Given the description of an element on the screen output the (x, y) to click on. 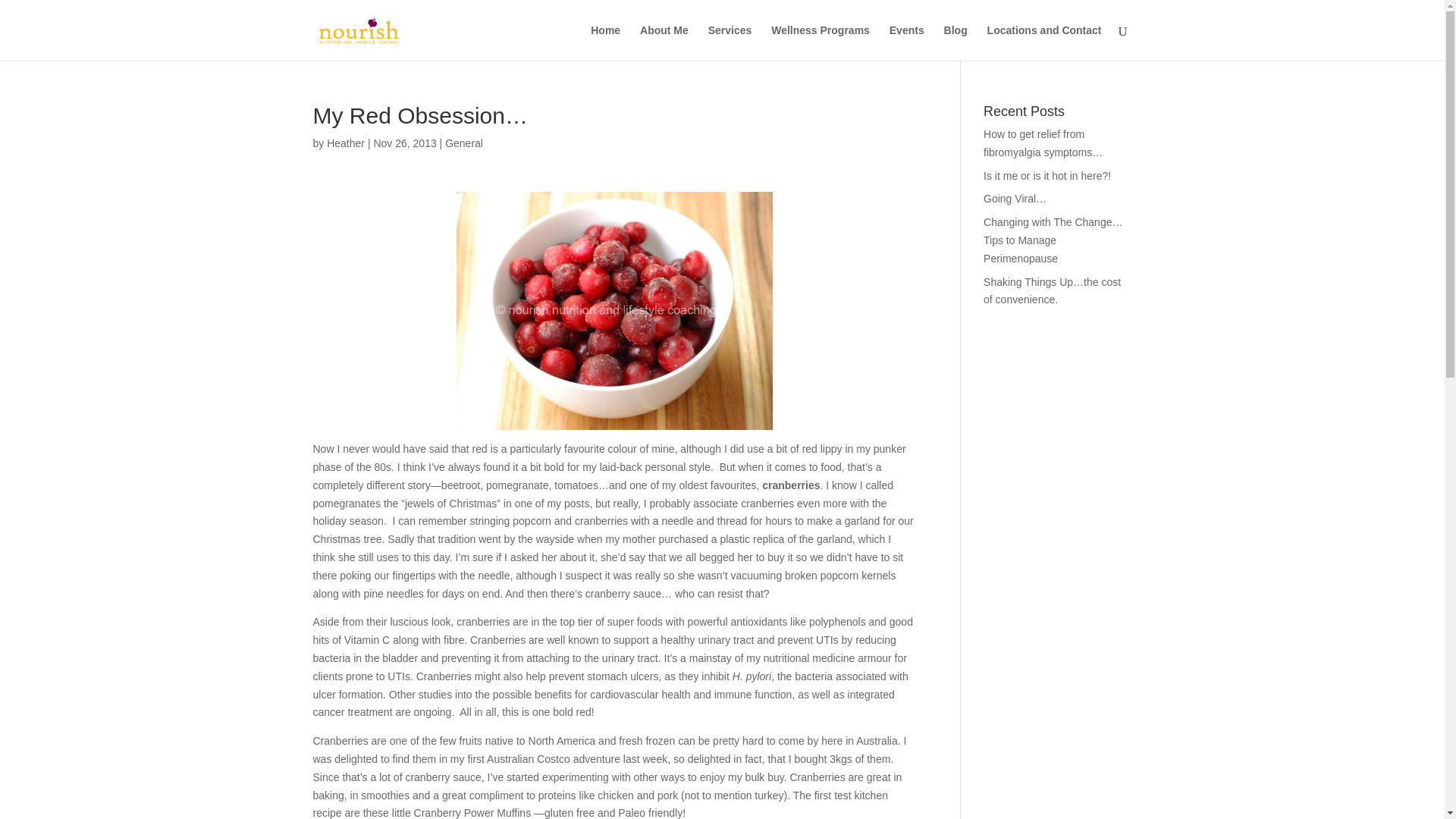
Blog (955, 42)
About Me (664, 42)
Home (605, 42)
Posts by Heather (345, 143)
Is it me or is it hot in here?! (1047, 175)
Events (906, 42)
Wellness Programs (820, 42)
Locations and Contact (1044, 42)
General (464, 143)
Services (729, 42)
Heather (345, 143)
